Given the description of an element on the screen output the (x, y) to click on. 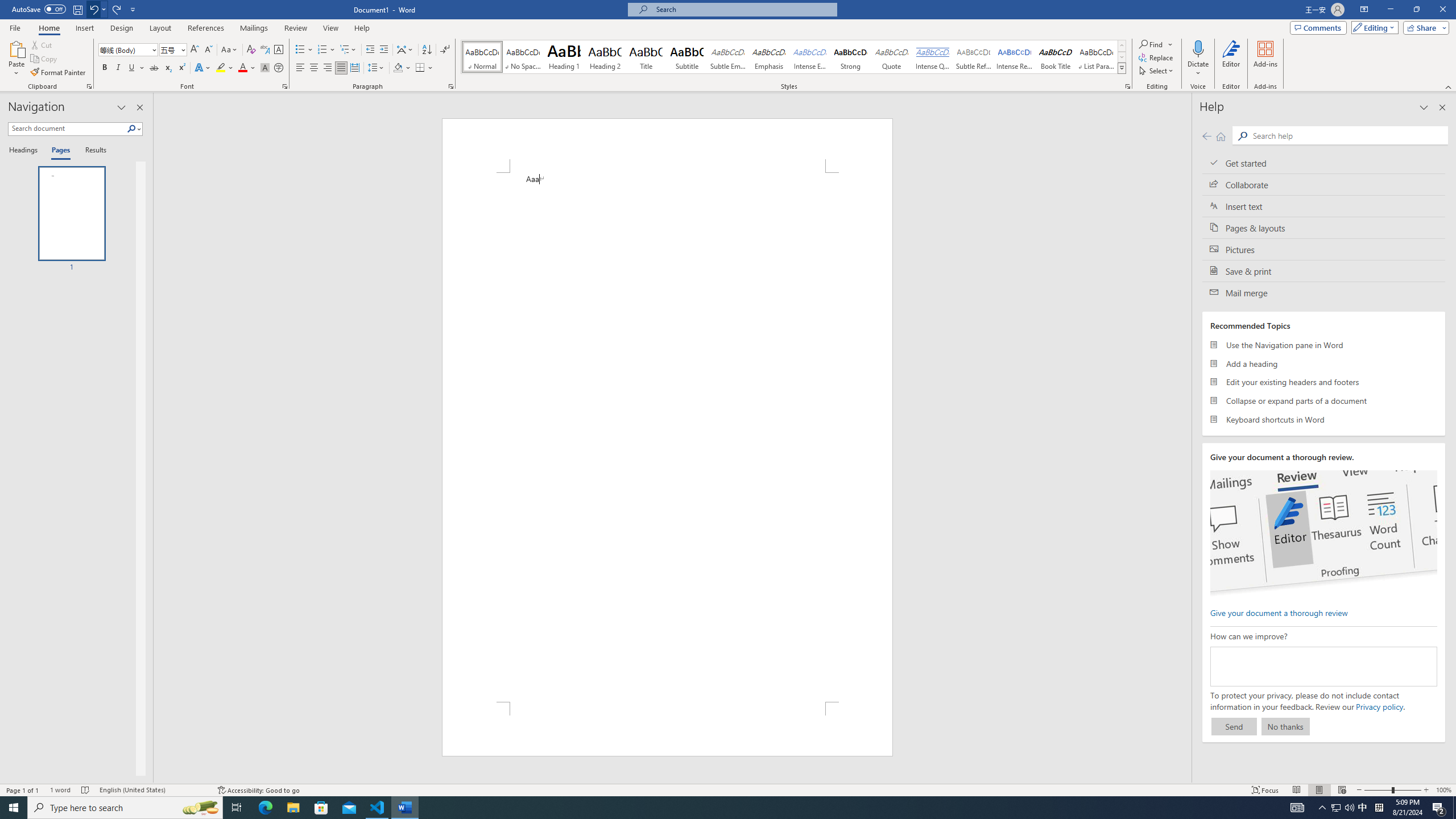
Title (646, 56)
Pages (59, 150)
Replace... (1156, 56)
Shading (402, 67)
Increase Indent (383, 49)
Add a heading (1323, 363)
Shading RGB(0, 0, 0) (397, 67)
Align Right (327, 67)
